Given the description of an element on the screen output the (x, y) to click on. 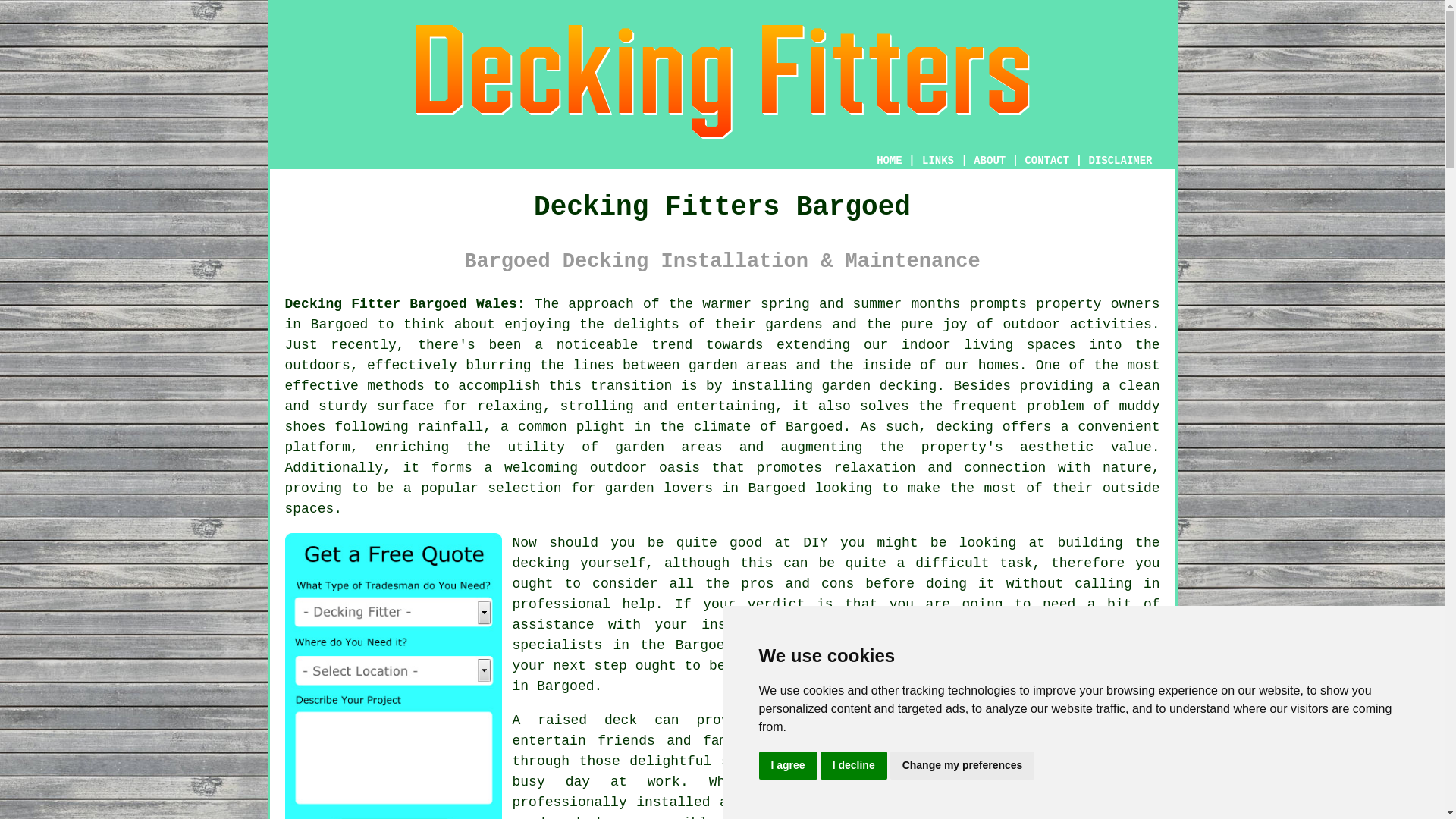
Decking Fitter Bargoed Wales UK (405, 304)
place (867, 720)
I decline (853, 765)
Bargoed Decking Fitter - Deck Fitters Bargoed (1046, 764)
garden decking (878, 385)
Change my preferences (962, 765)
Decking Fitter Bargoed Wales (721, 81)
decking (541, 563)
I agree (787, 765)
LINKS (938, 160)
decking fitter (978, 665)
HOME (889, 160)
